Given the description of an element on the screen output the (x, y) to click on. 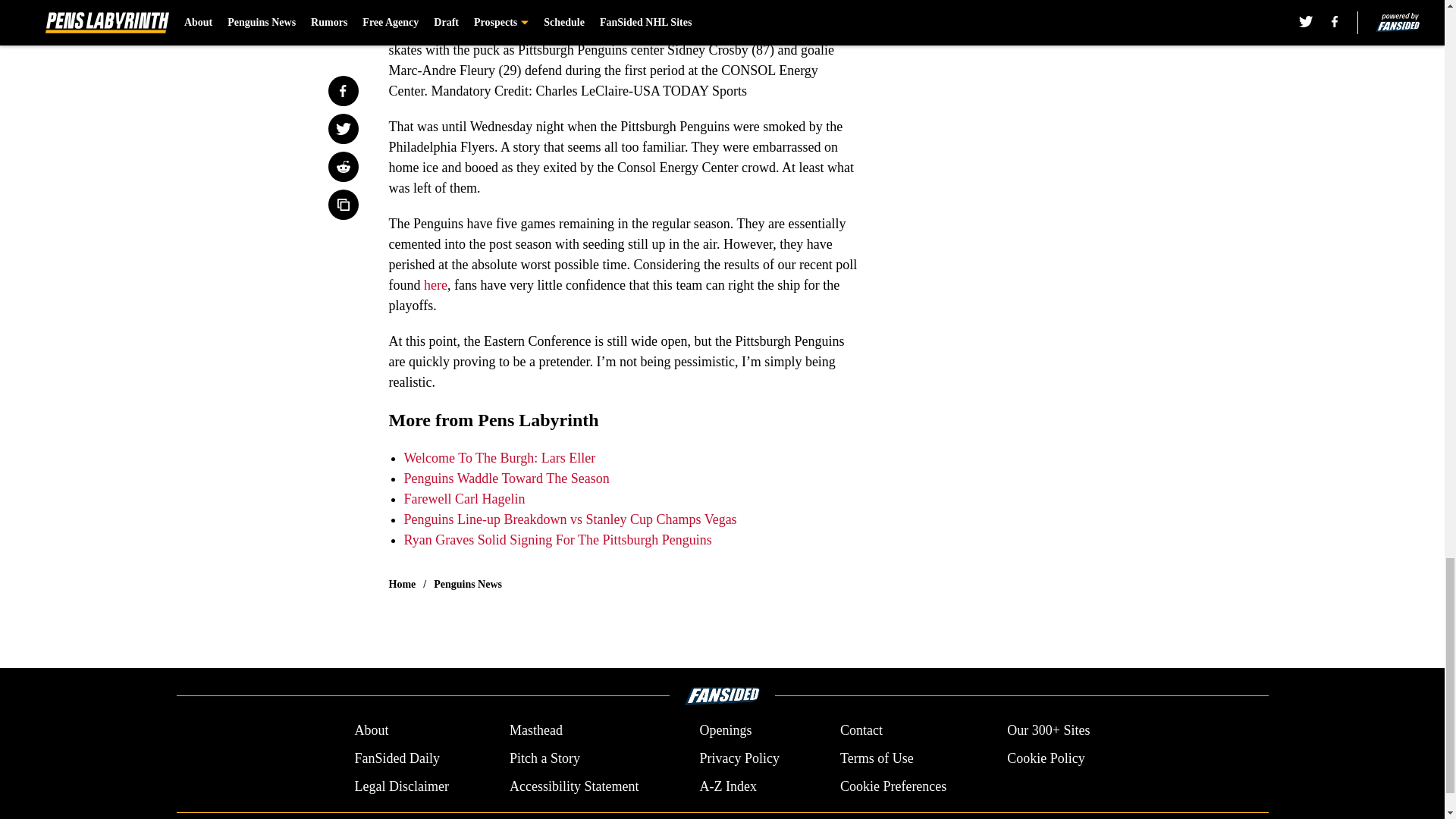
Welcome To The Burgh: Lars Eller (499, 458)
Penguins News (467, 584)
Ryan Graves Solid Signing For The Pittsburgh Penguins (557, 539)
FanSided Daily (396, 758)
About (370, 730)
Contact (861, 730)
Penguins Waddle Toward The Season (505, 478)
Pitch a Story (544, 758)
here (434, 284)
Masthead (535, 730)
Penguins Line-up Breakdown vs Stanley Cup Champs Vegas (569, 519)
Farewell Carl Hagelin (463, 498)
Home (401, 584)
Openings (724, 730)
